Given the description of an element on the screen output the (x, y) to click on. 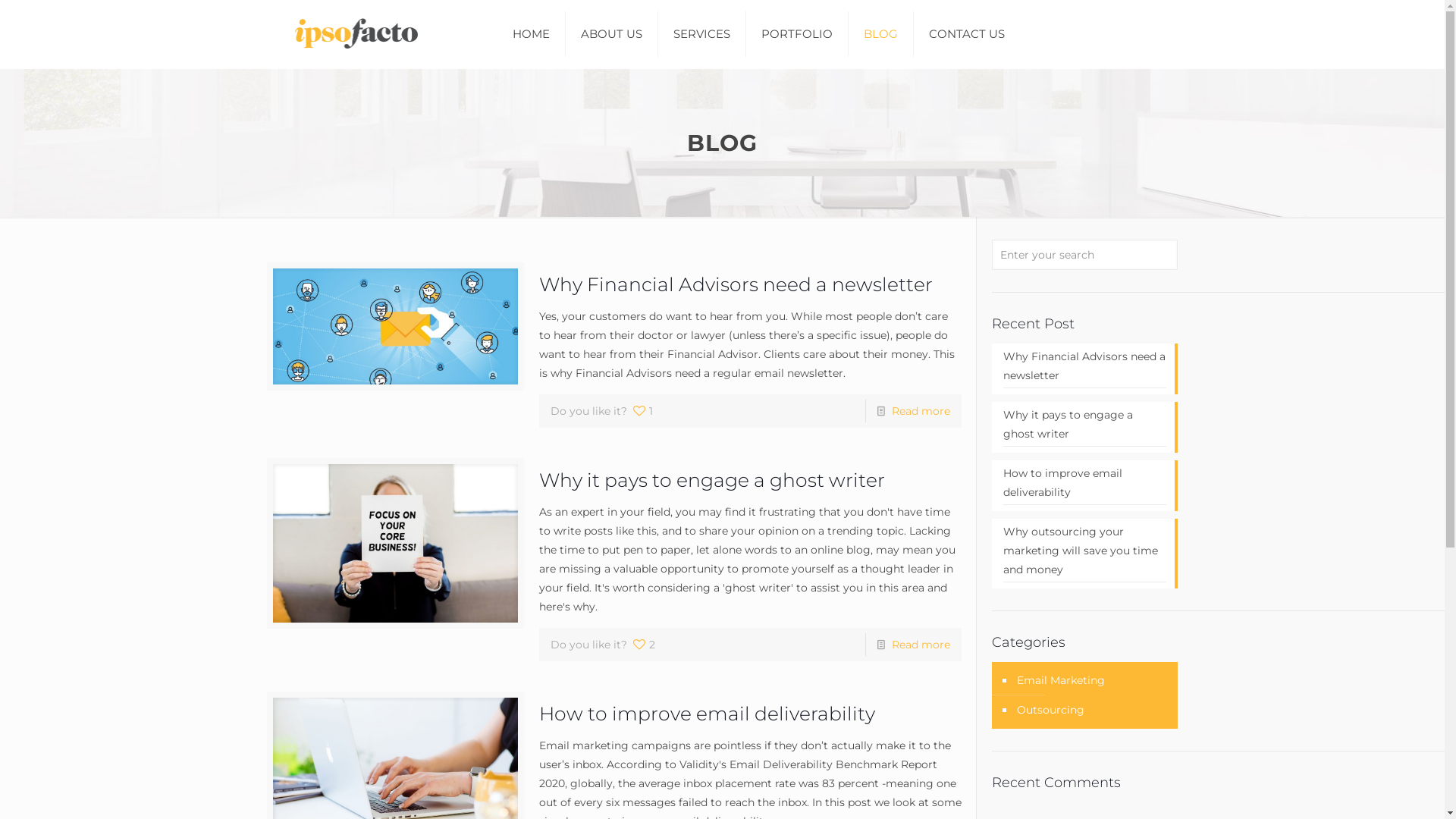
Why outsourcing your marketing will save you time and money Element type: text (1084, 552)
ABOUT US Element type: text (611, 34)
Why Financial Advisors need a newsletter Element type: text (1084, 367)
How to improve email deliverability Element type: text (1084, 484)
Ipso Facto Element type: hover (351, 34)
BLOG Element type: text (880, 34)
HOME Element type: text (531, 34)
Read more Element type: text (920, 410)
1 Element type: text (641, 410)
Read more Element type: text (920, 644)
Outsourcing Element type: text (1049, 709)
Why Financial Advisors need a newsletter Element type: text (735, 284)
CONTACT US Element type: text (966, 34)
SERVICES Element type: text (702, 34)
2 Element type: text (642, 644)
PORTFOLIO Element type: text (797, 34)
Email Marketing Element type: text (1059, 680)
Why it pays to engage a ghost writer Element type: text (1084, 425)
How to improve email deliverability Element type: text (707, 713)
Why it pays to engage a ghost writer Element type: text (711, 479)
